Given the description of an element on the screen output the (x, y) to click on. 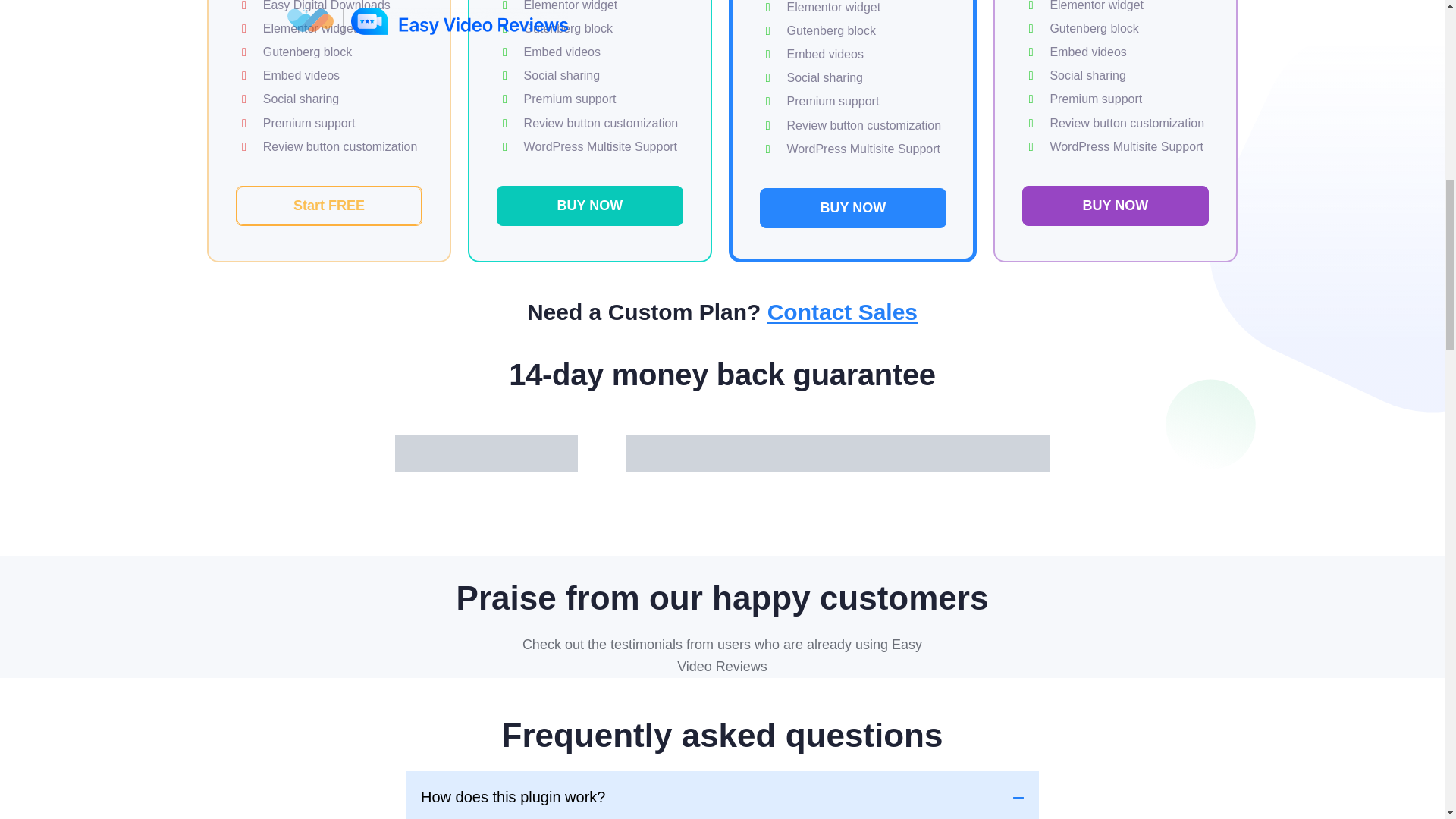
Start FREE (328, 205)
BUY NOW (1115, 205)
BUY NOW (853, 208)
Contact Sales (842, 311)
BUY NOW (589, 205)
